Given the description of an element on the screen output the (x, y) to click on. 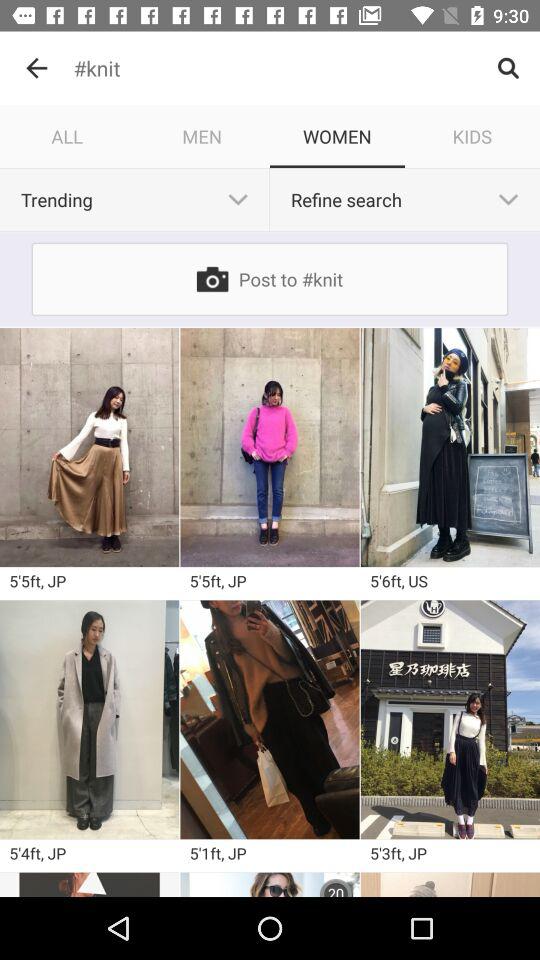
photo (89, 884)
